Given the description of an element on the screen output the (x, y) to click on. 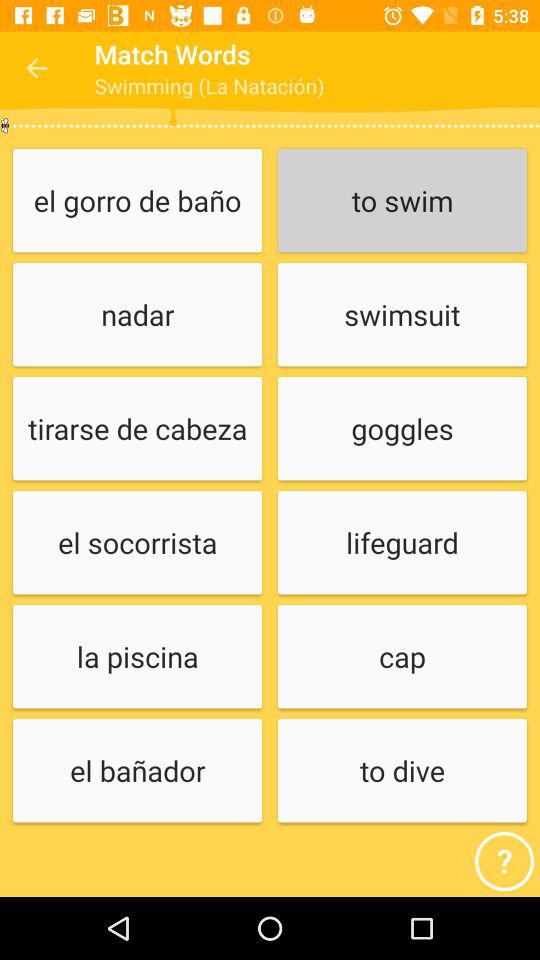
launch icon below the goggles (402, 543)
